Given the description of an element on the screen output the (x, y) to click on. 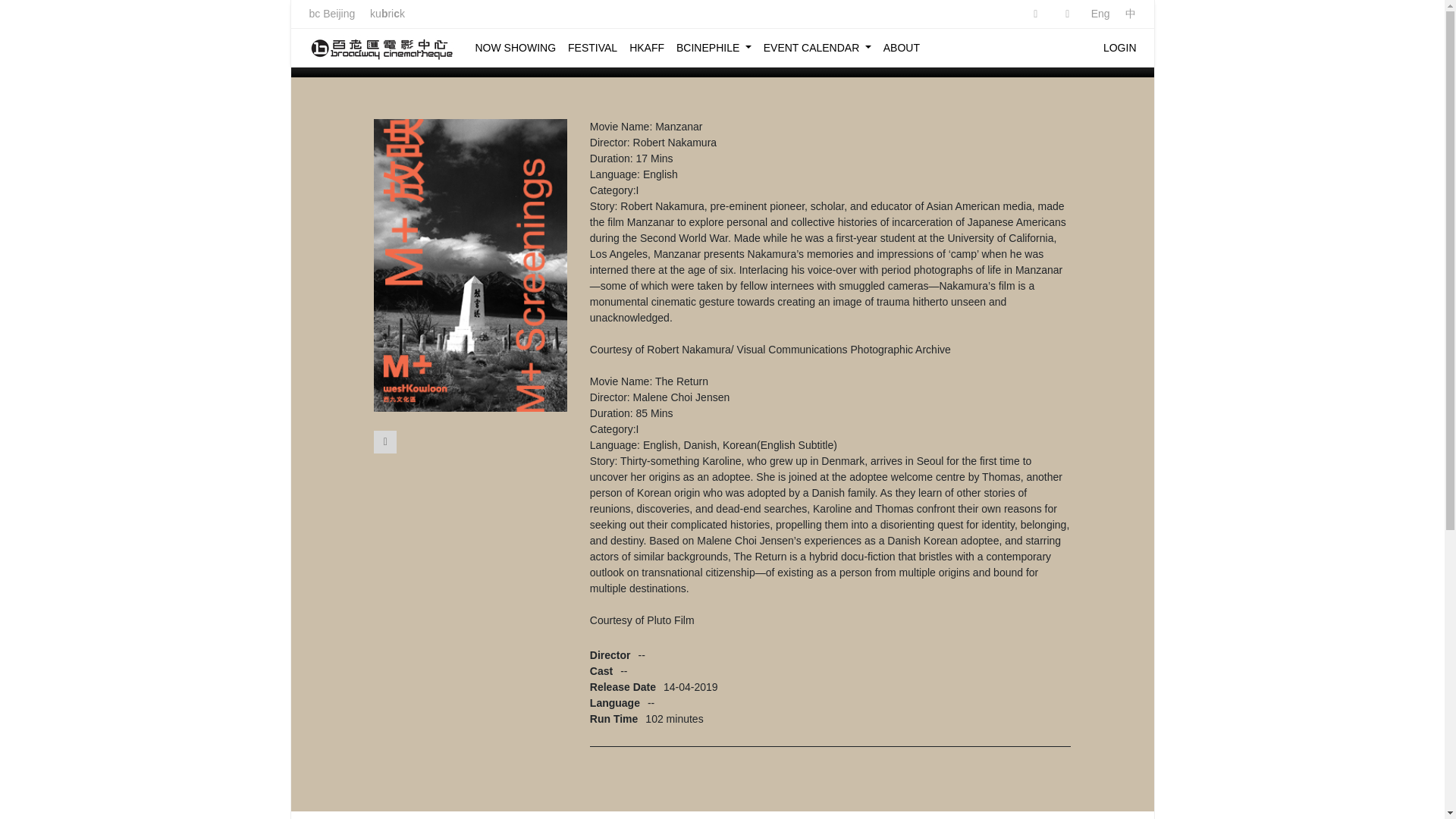
HKAFF (645, 47)
ABOUT (901, 47)
ABOUT (901, 47)
LOGIN (1120, 47)
EVENT CALENDAR (816, 47)
Eng (1099, 13)
BCINEPHILE (714, 47)
HKAFF (645, 47)
NOW SHOWING (515, 47)
LOGIN (1120, 47)
